Given the description of an element on the screen output the (x, y) to click on. 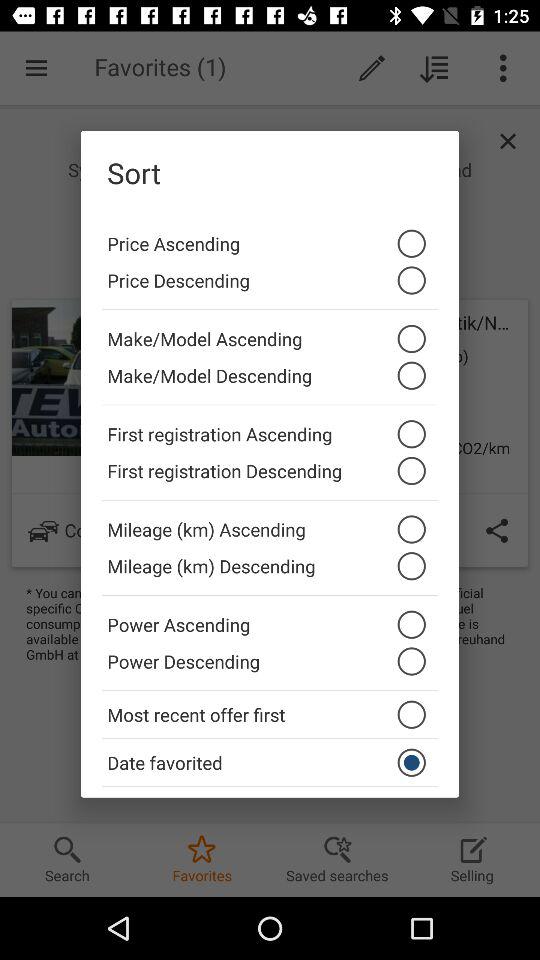
flip until most recent offer (269, 714)
